Given the description of an element on the screen output the (x, y) to click on. 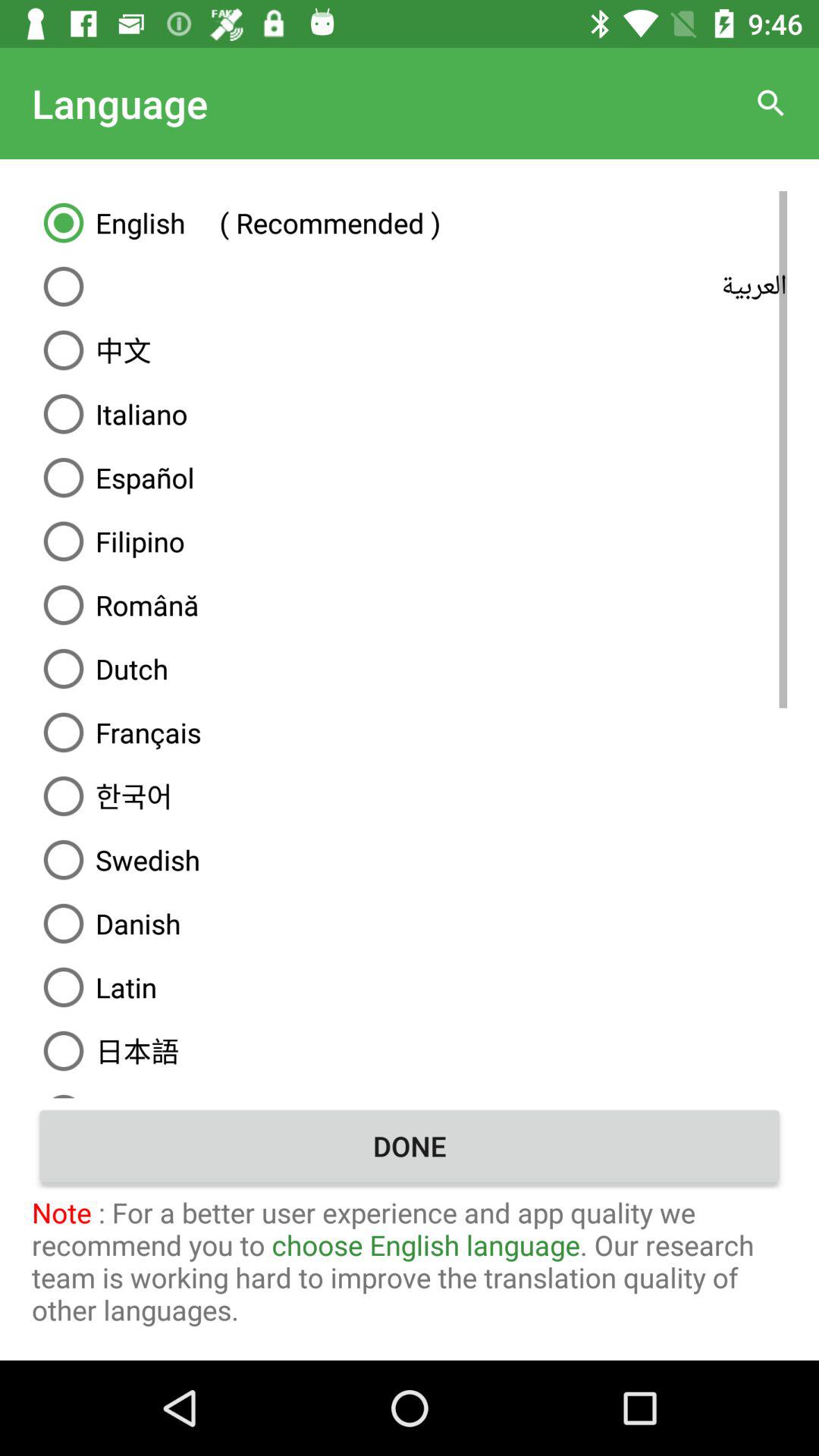
jump to the italiano icon (409, 413)
